Given the description of an element on the screen output the (x, y) to click on. 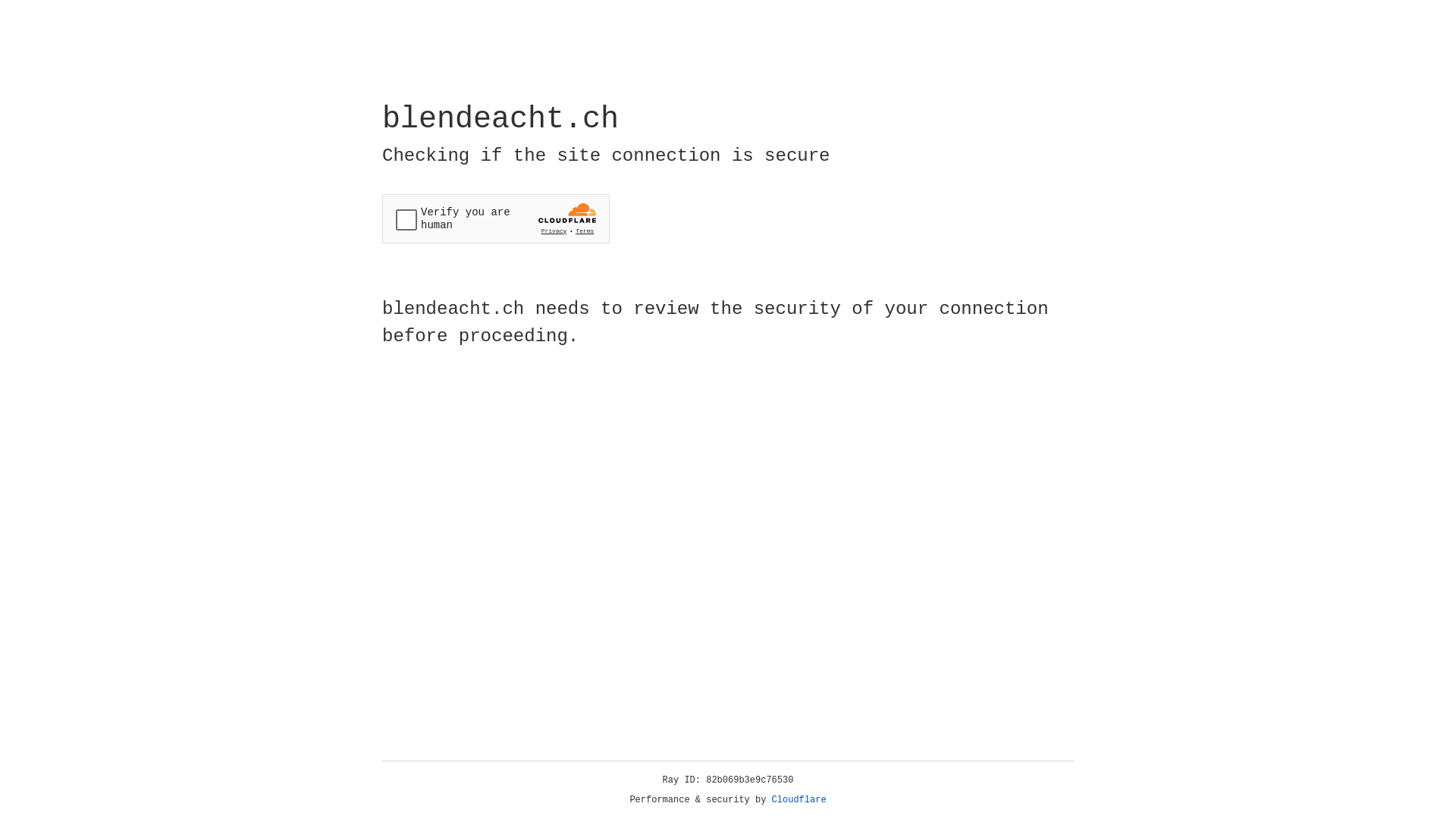
Widget containing a Cloudflare security challenge Element type: hover (495, 218)
Cloudflare Element type: text (798, 799)
